Given the description of an element on the screen output the (x, y) to click on. 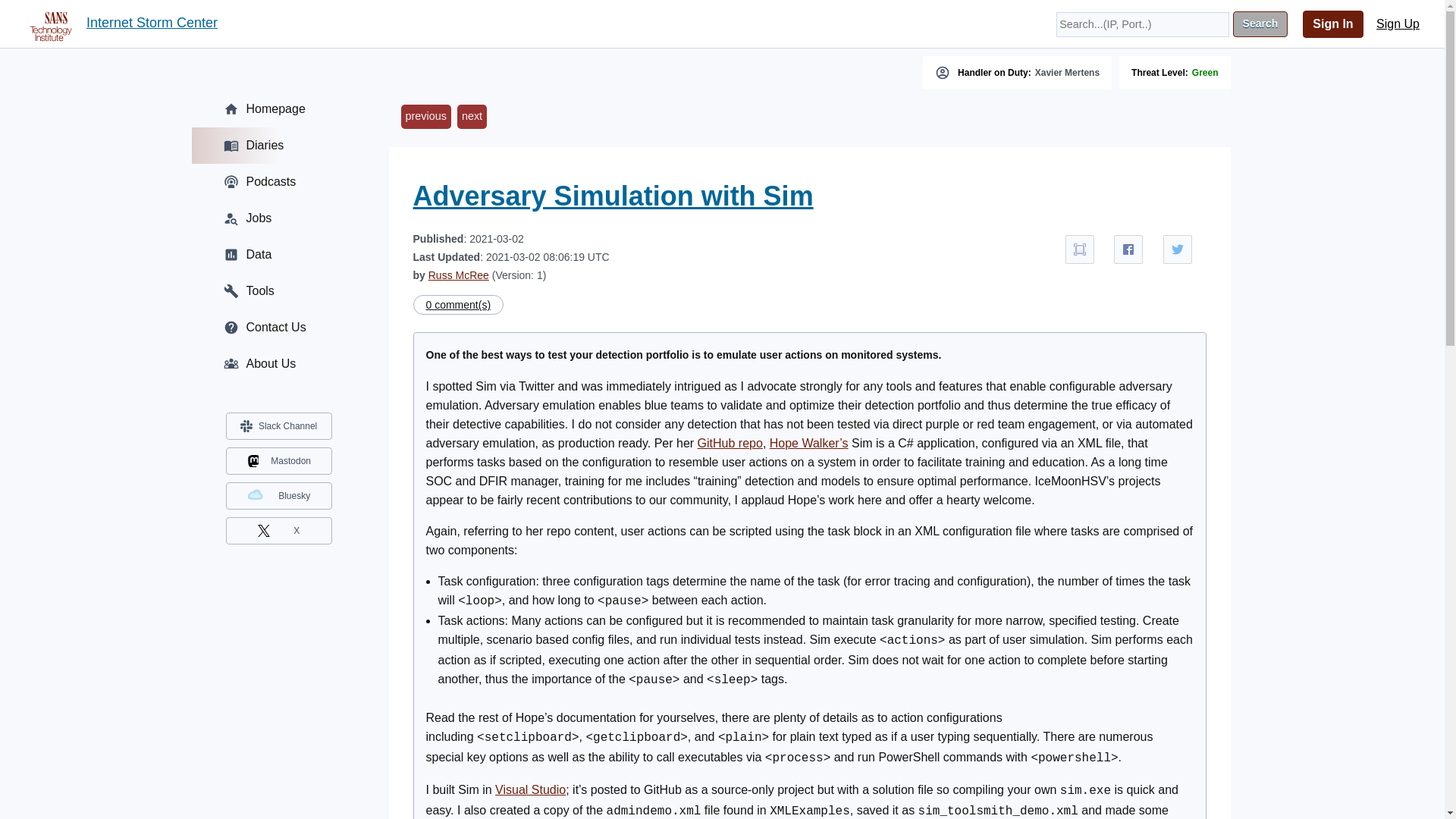
Share on Facebook (1127, 249)
Search (1260, 23)
GitHub repo (729, 442)
Sign In (1332, 24)
Russ McRee (458, 275)
Internet Storm Center (150, 23)
Visual Studio (530, 789)
Green (1205, 72)
next (471, 116)
Xavier Mertens (1067, 72)
Share on Twitter (1177, 249)
Search (1260, 23)
Full Screen (1079, 249)
Sign Up (1398, 24)
Adversary Simulation with Sim (612, 195)
